Given the description of an element on the screen output the (x, y) to click on. 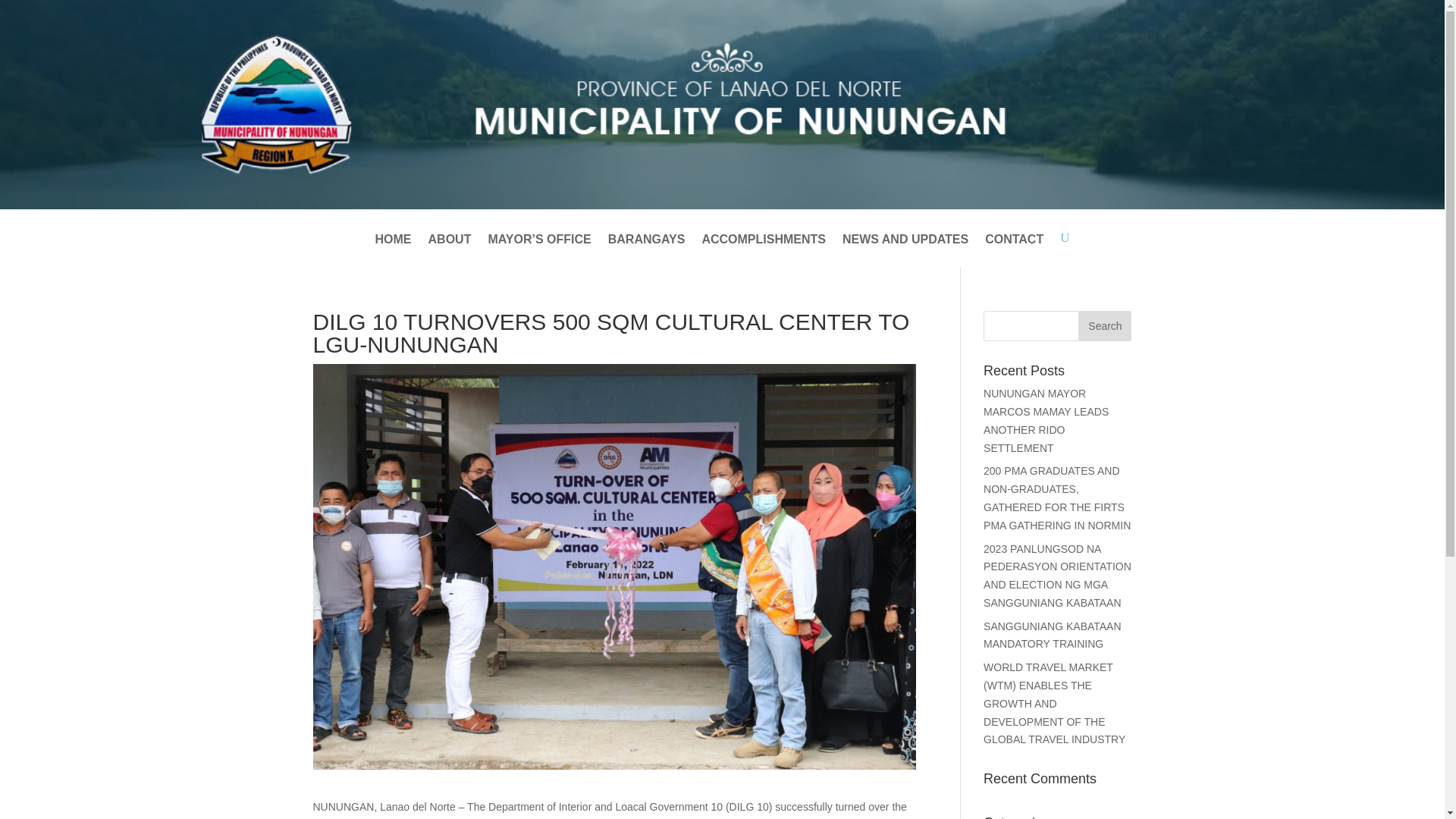
NUNUNGAN MAYOR MARCOS MAMAY LEADS ANOTHER RIDO SETTLEMENT (1046, 420)
CONTACT (1014, 250)
SANGGUNIANG KABATAAN MANDATORY TRAINING (1052, 634)
ABOUT (449, 250)
BARANGAYS (646, 250)
Search (1104, 326)
NEWS AND UPDATES (905, 250)
ACCOMPLISHMENTS (763, 250)
Search (1104, 326)
